Given the description of an element on the screen output the (x, y) to click on. 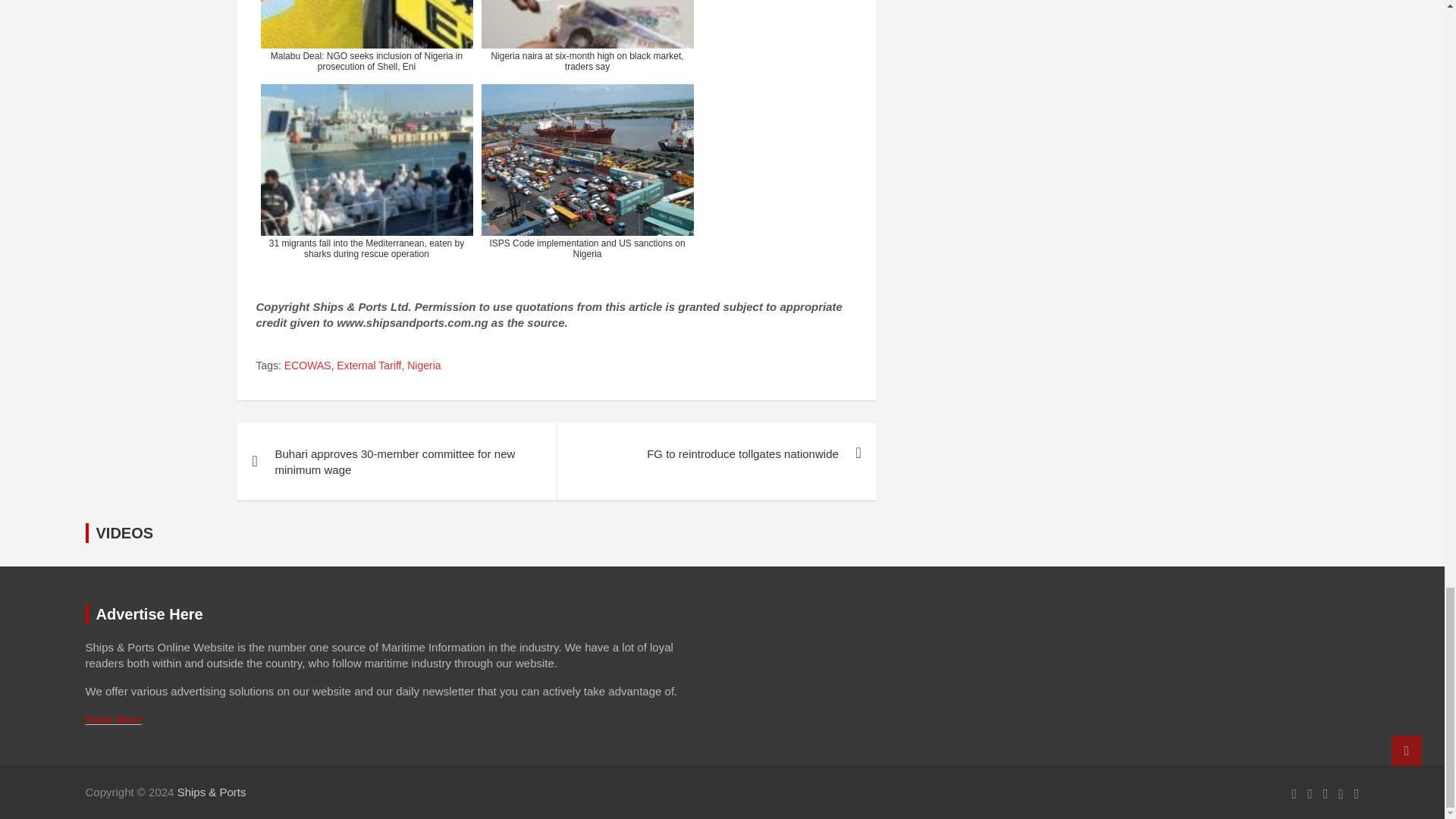
Nigeria naira at six-month high on black market, traders say (586, 38)
ISPS Code implementation and US sanctions on Nigeria (586, 170)
